Given the description of an element on the screen output the (x, y) to click on. 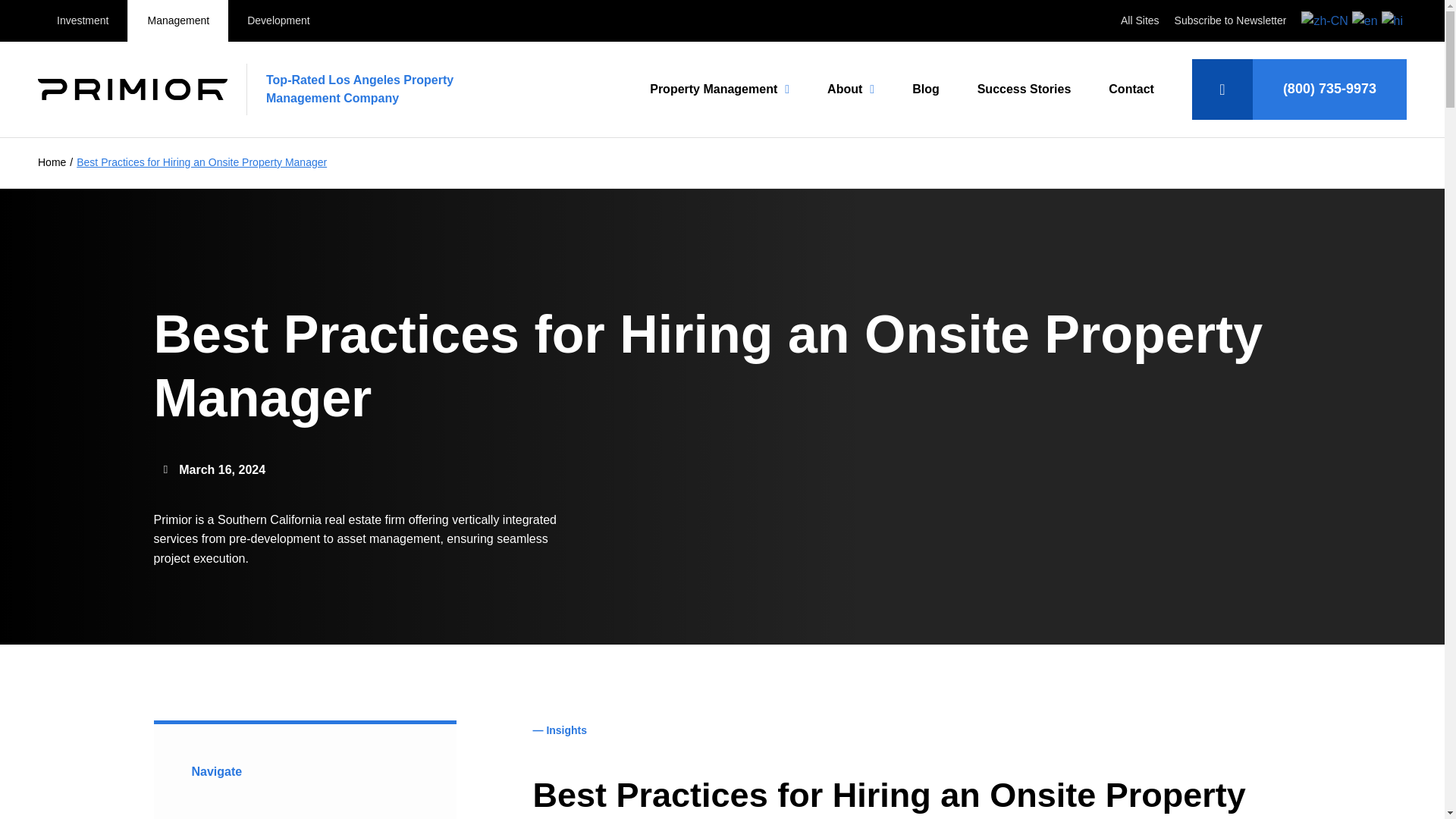
Management (178, 20)
About (850, 89)
Hindi (1393, 19)
Property Management (719, 89)
All Sites (1139, 20)
Development (278, 20)
Subscribe to Newsletter (1230, 20)
Investment (82, 20)
English (1366, 19)
Home (51, 162)
